Given the description of an element on the screen output the (x, y) to click on. 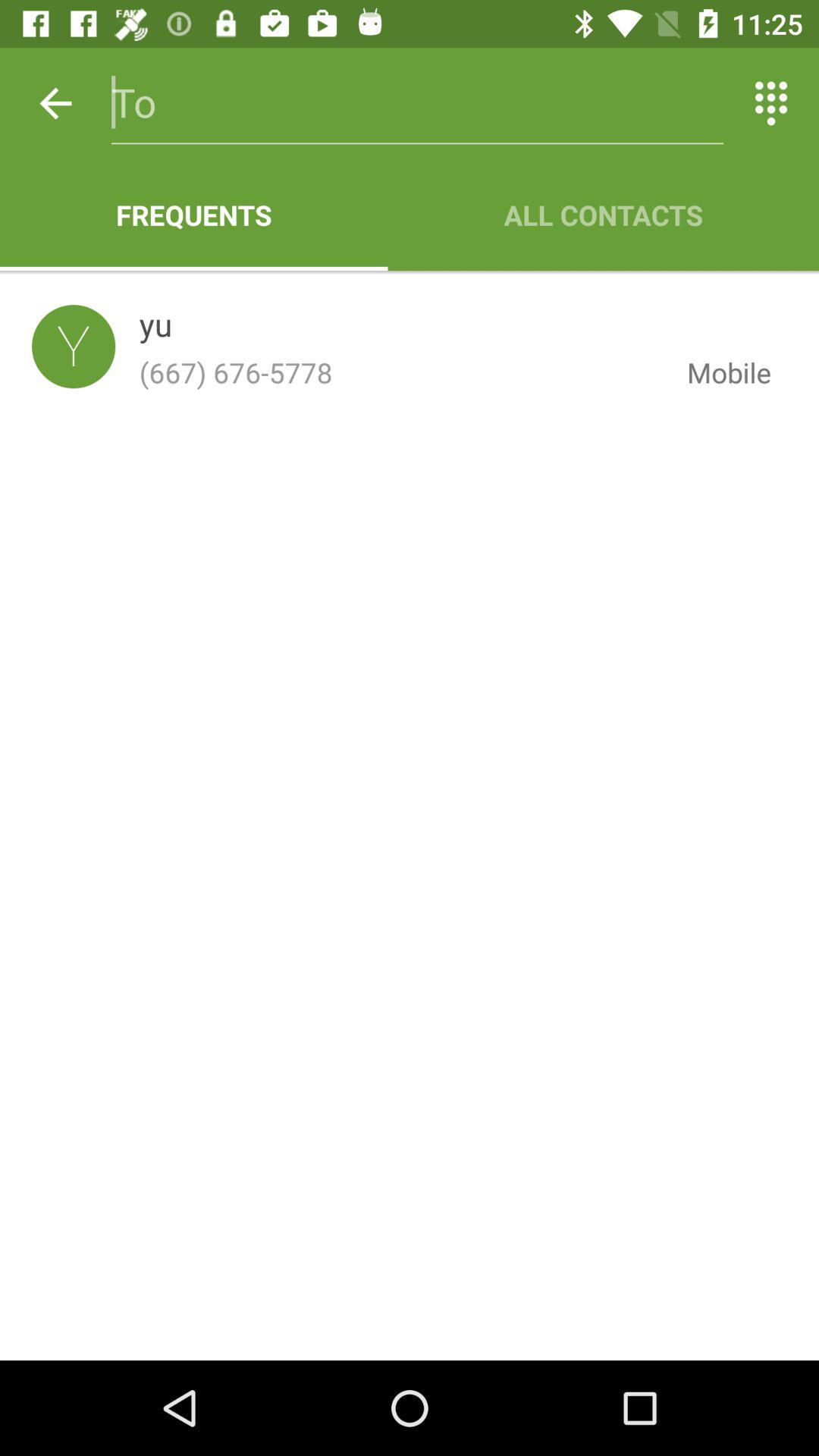
scroll to frequents icon (193, 214)
